Given the description of an element on the screen output the (x, y) to click on. 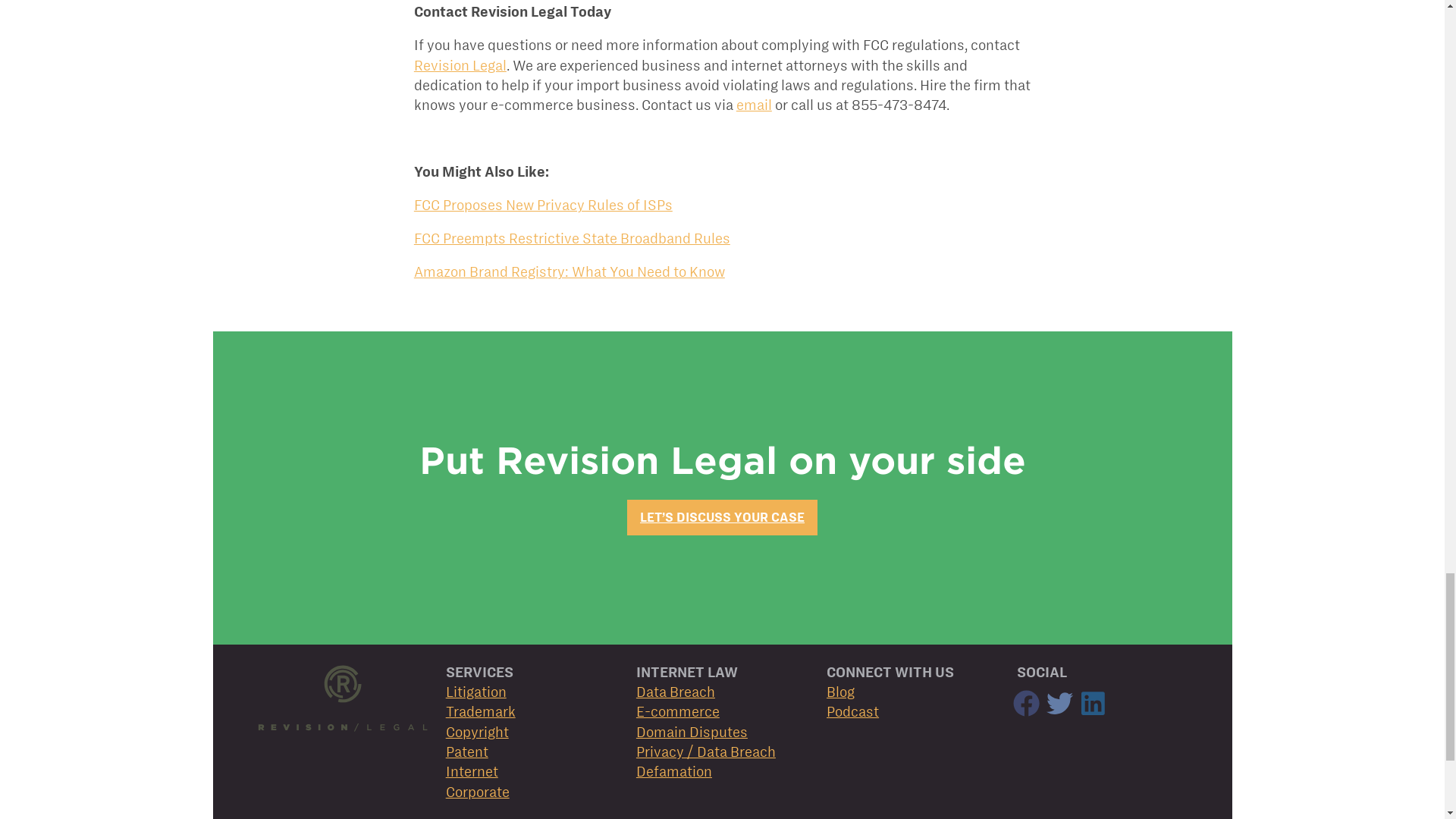
Trademark (480, 711)
FCC Preempts Restrictive State Broadband Rules (571, 238)
Corporate (477, 791)
Defamation (673, 771)
Copyright (476, 731)
Litigation (475, 691)
FCC Proposes New Privacy Rules of ISPs (542, 204)
Patent (466, 751)
Internet (471, 771)
Podcast (853, 711)
Domain Disputes (692, 731)
E-commerce (677, 711)
email (753, 105)
Blog (840, 691)
Amazon Brand Registry: What You Need to Know (569, 271)
